Given the description of an element on the screen output the (x, y) to click on. 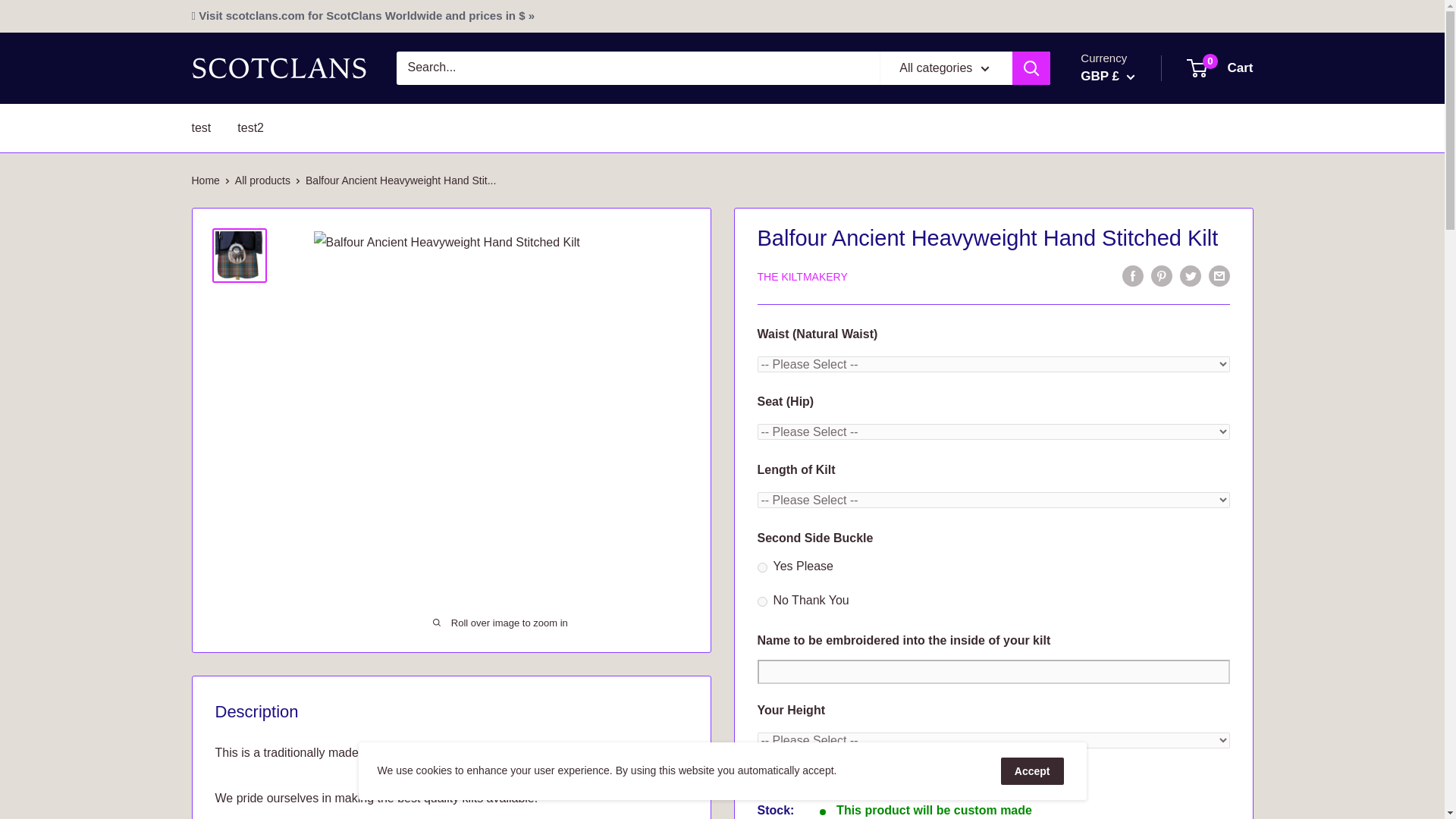
DKK (1128, 251)
CAD (1128, 181)
USD (1128, 483)
CZK (1128, 227)
CHF (1128, 205)
AED (1128, 135)
SGD (1220, 68)
EUR (1128, 459)
GBP (1128, 274)
All products (1128, 298)
test2 (261, 180)
SEK (250, 128)
ILS (1128, 436)
AUD (1128, 344)
